Given the description of an element on the screen output the (x, y) to click on. 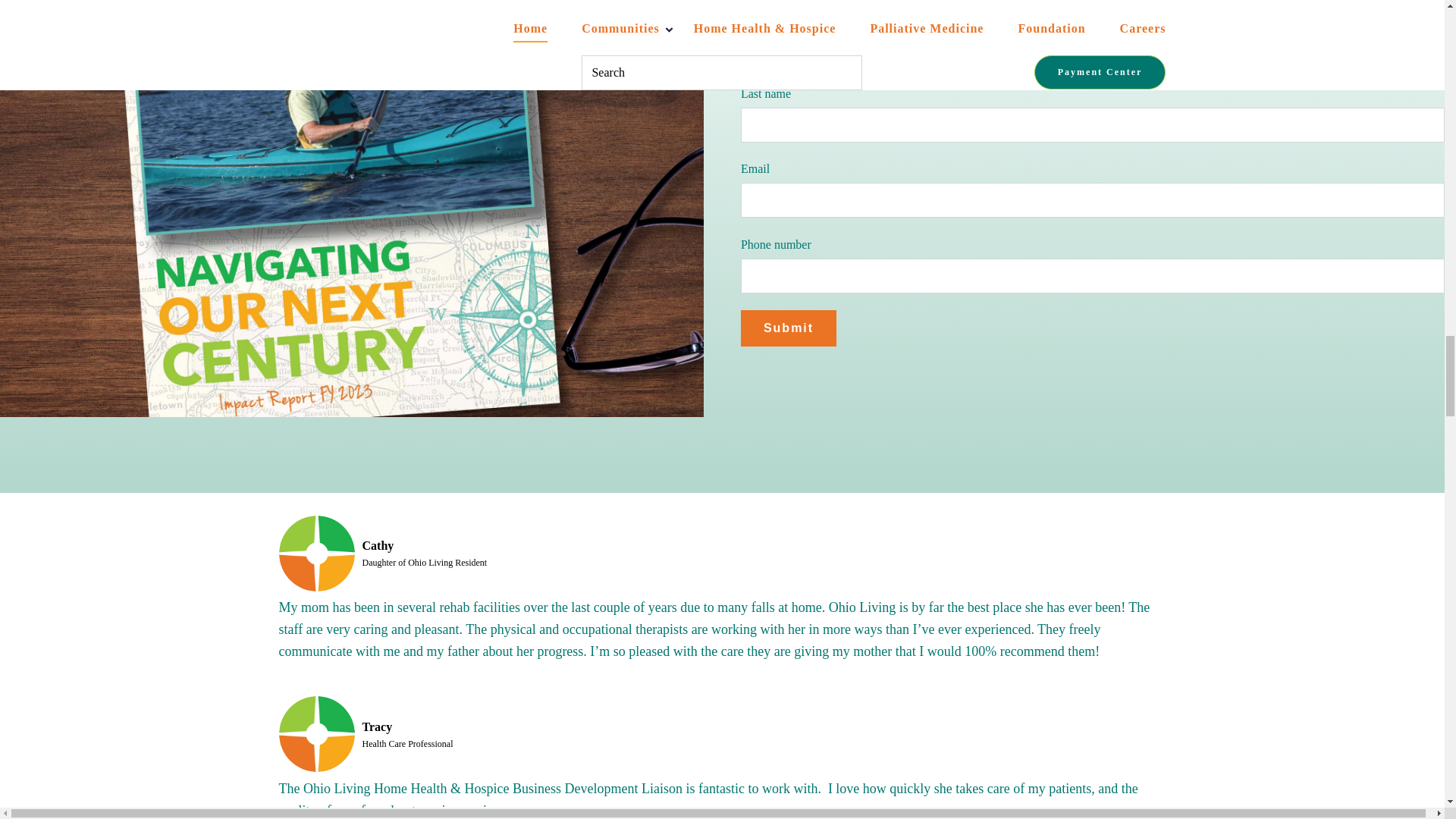
Submit (788, 328)
